Given the description of an element on the screen output the (x, y) to click on. 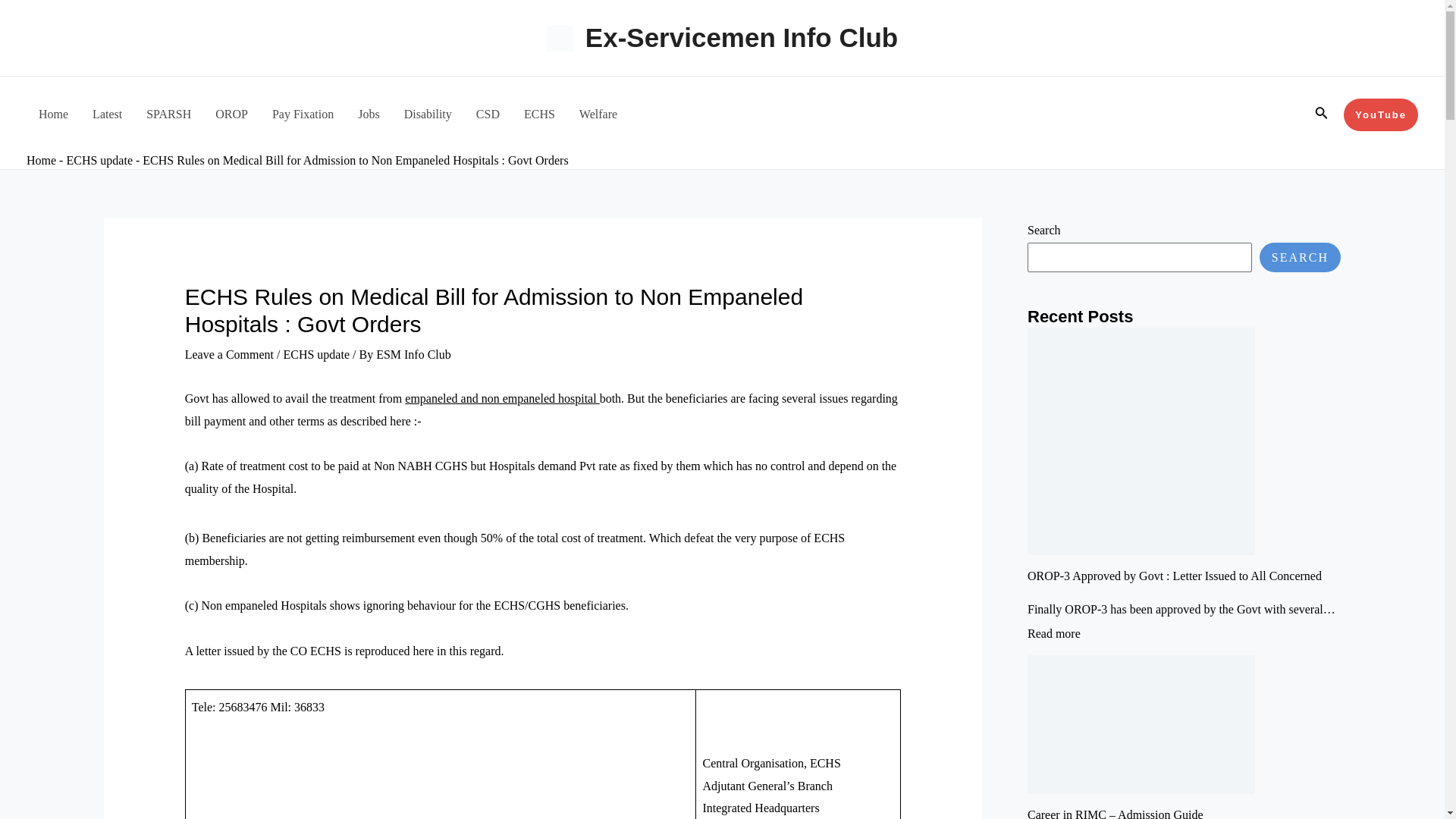
ESM Info Club (413, 354)
ECHS update (98, 160)
empaneled and non empaneled hospital (501, 398)
YouTube (1380, 114)
SPARSH (168, 114)
Disability (427, 114)
ECHS update (315, 354)
View all posts by ESM Info Club (413, 354)
Pay Fixation (303, 114)
Leave a Comment (228, 354)
Home (41, 160)
Ex-Servicemen Info Club (741, 37)
